Given the description of an element on the screen output the (x, y) to click on. 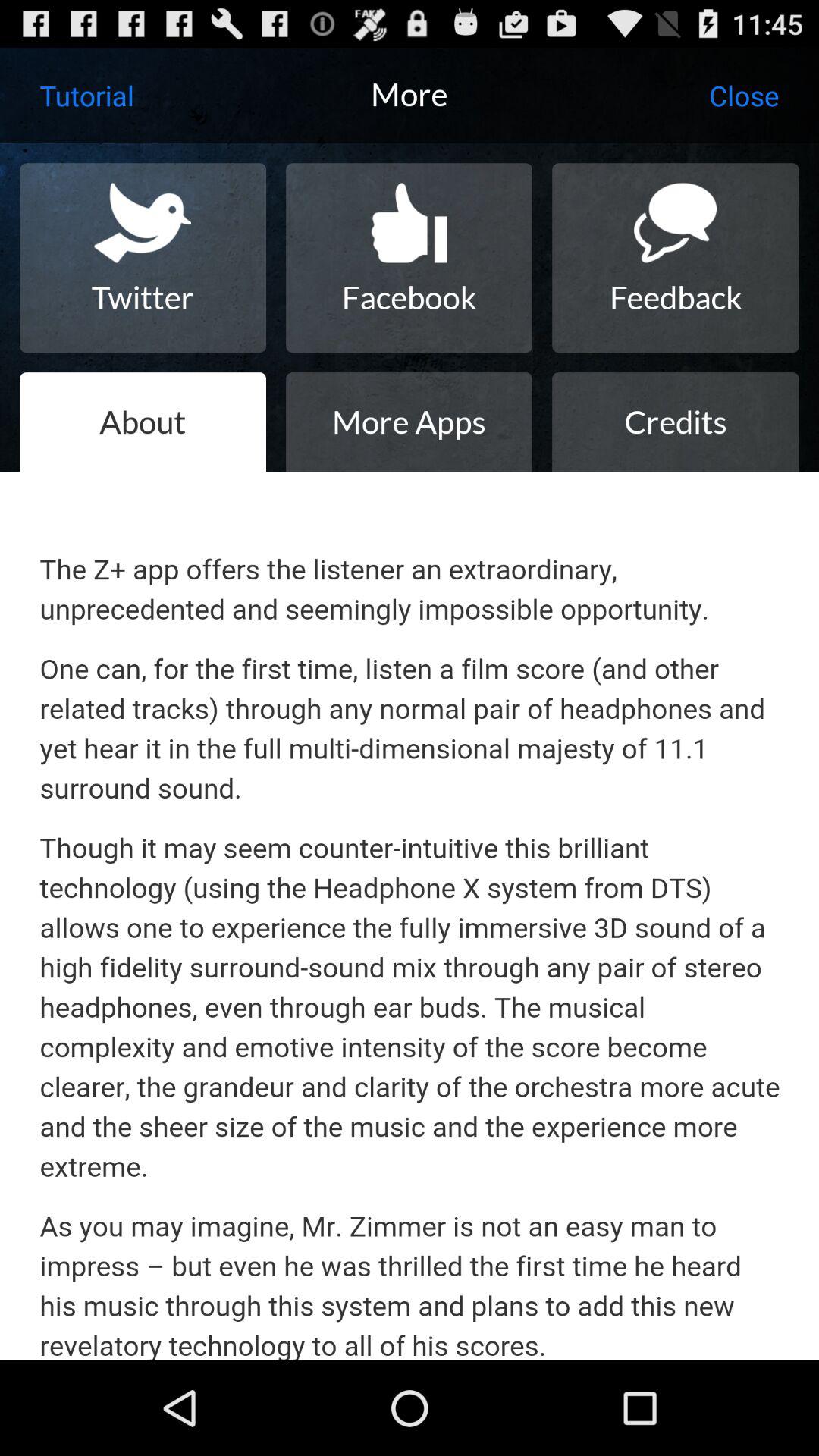
turn off icon next to more apps item (142, 422)
